Given the description of an element on the screen output the (x, y) to click on. 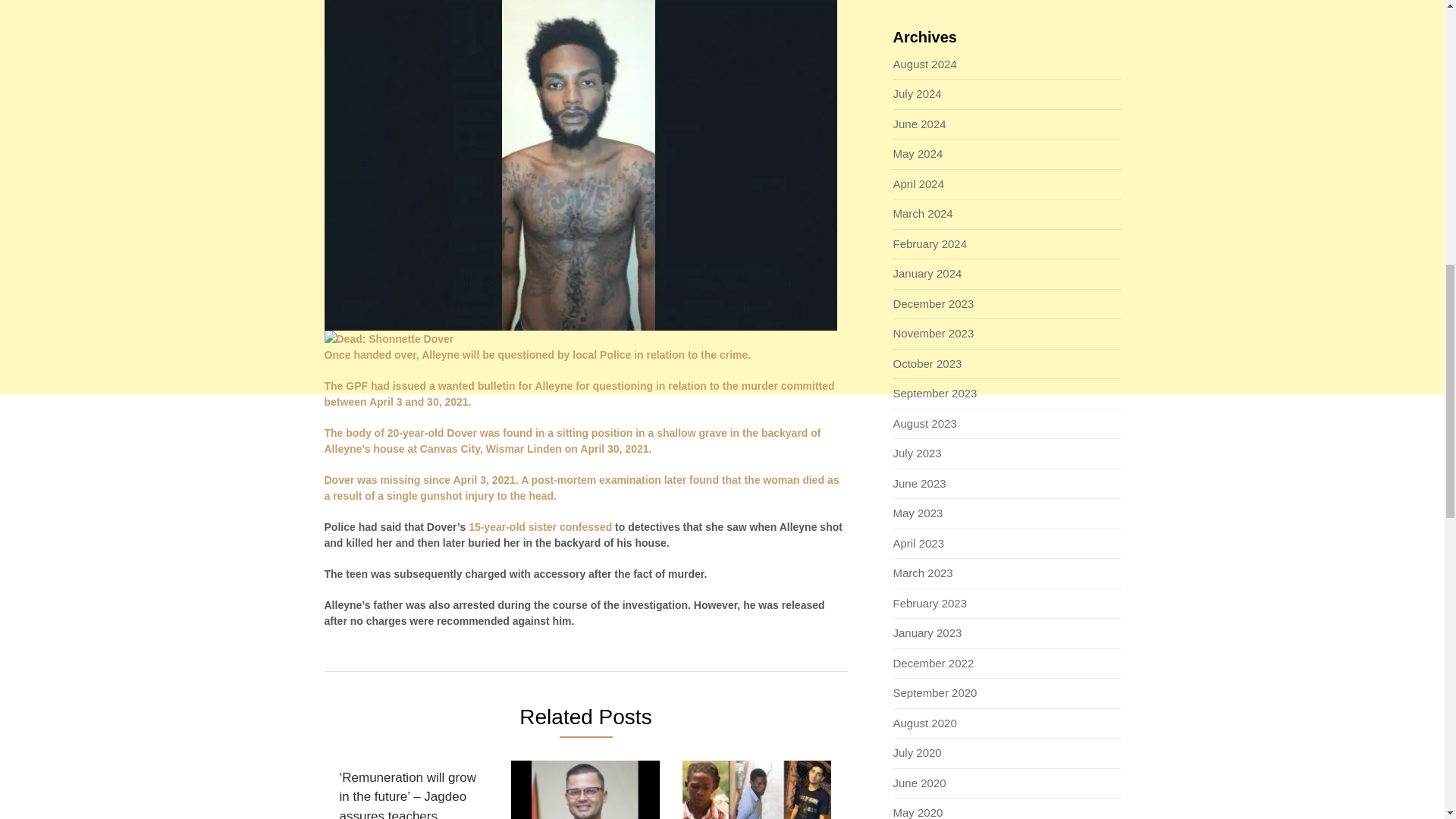
August 2024 (924, 63)
December 2023 (933, 303)
15-year-old sister confessed (539, 526)
June 2024 (919, 123)
January 2024 (927, 273)
gunshot injury to the head. (488, 495)
August 2023 (924, 422)
February 2024 (930, 243)
June 2023 (919, 482)
